Given the description of an element on the screen output the (x, y) to click on. 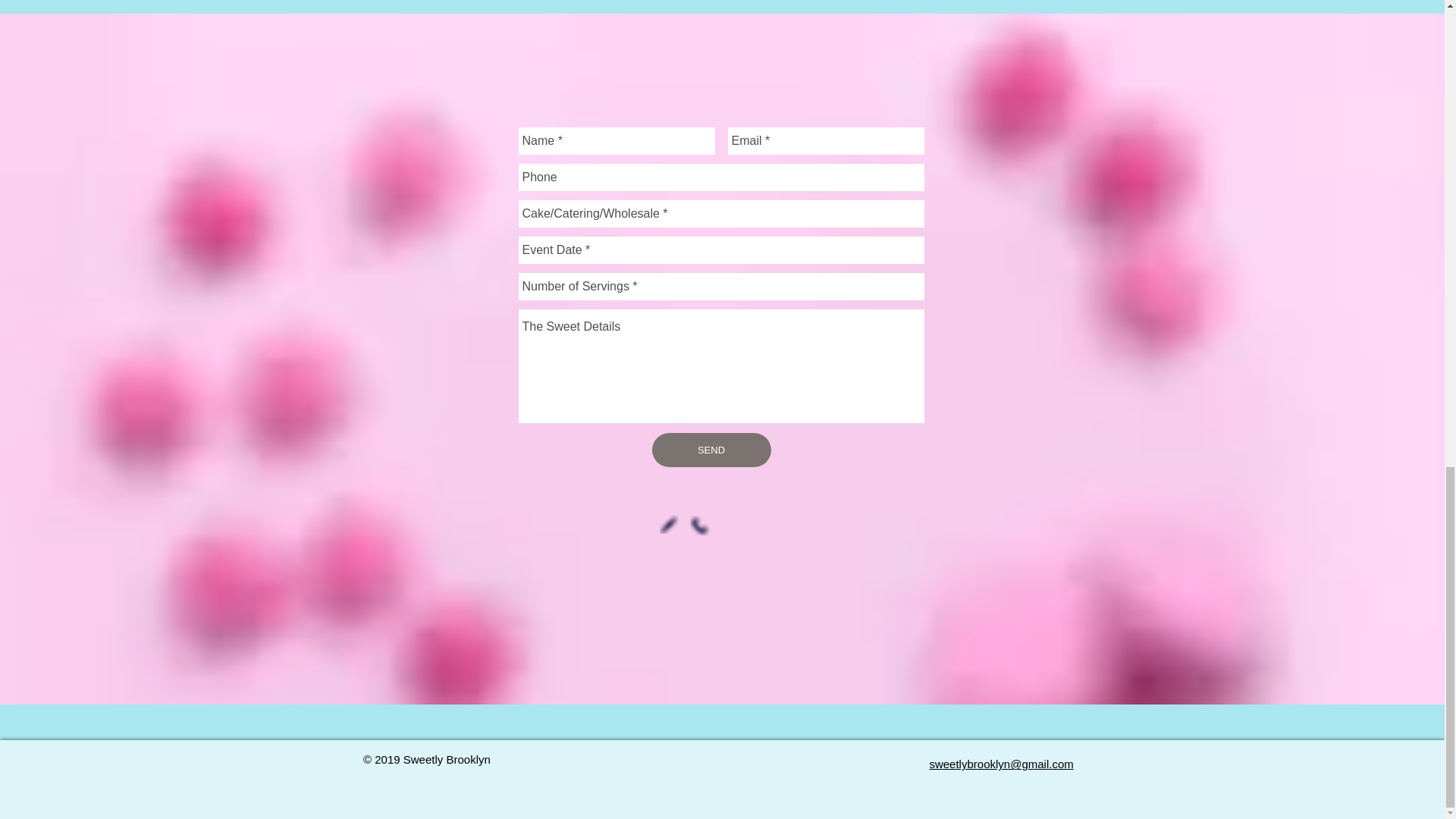
SEND (711, 449)
